Given the description of an element on the screen output the (x, y) to click on. 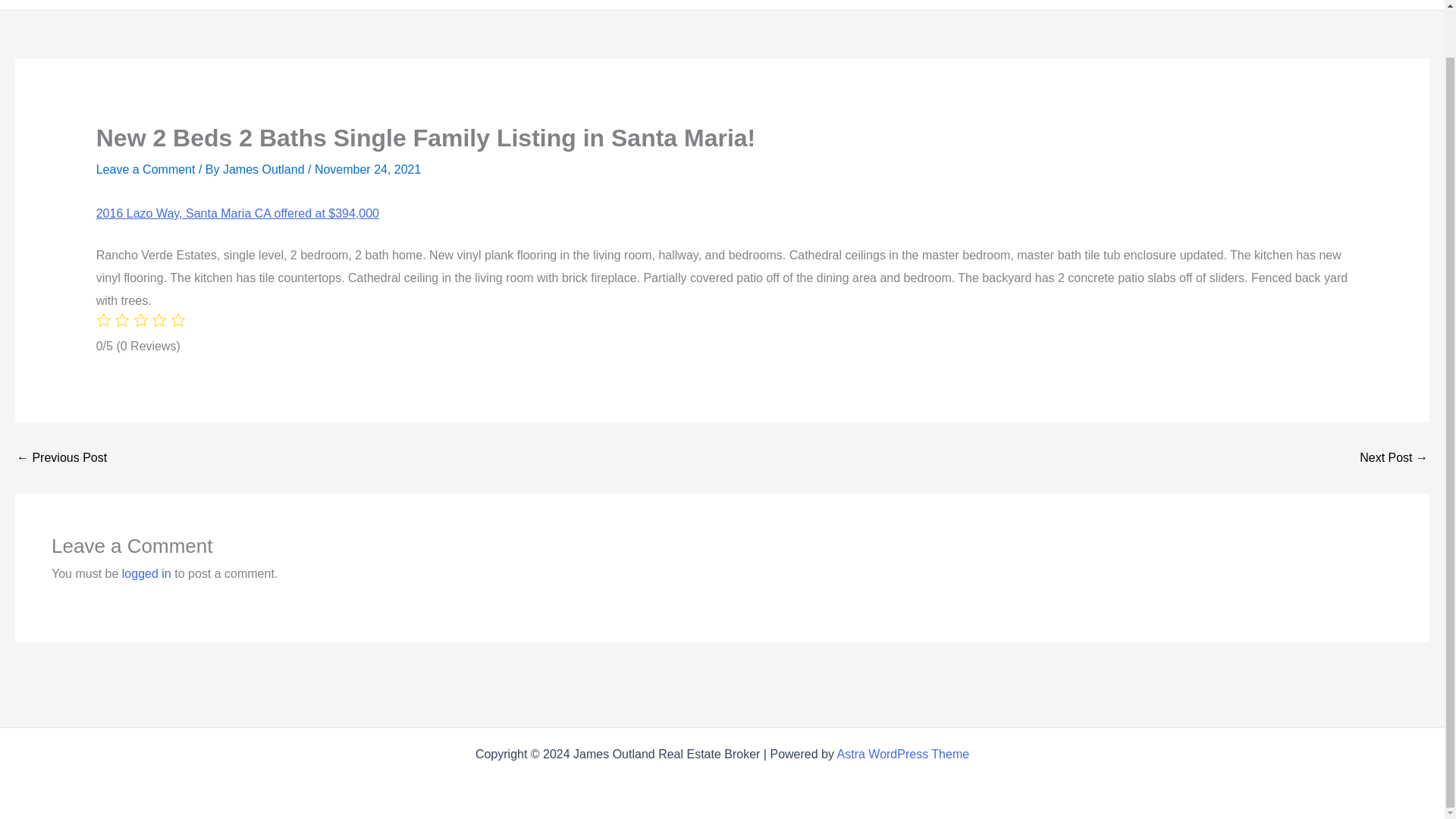
Central Coast Communities (1070, 4)
Blog Central Coast Real Estate (888, 4)
View all posts by James Outland (264, 169)
Central Coast Lenders (1228, 4)
Contact Page (1350, 4)
Homes For Sale (735, 4)
Login (1414, 4)
Sold 4 Beds 4 Baths Single Family in Atascadero! (1393, 458)
